Given the description of an element on the screen output the (x, y) to click on. 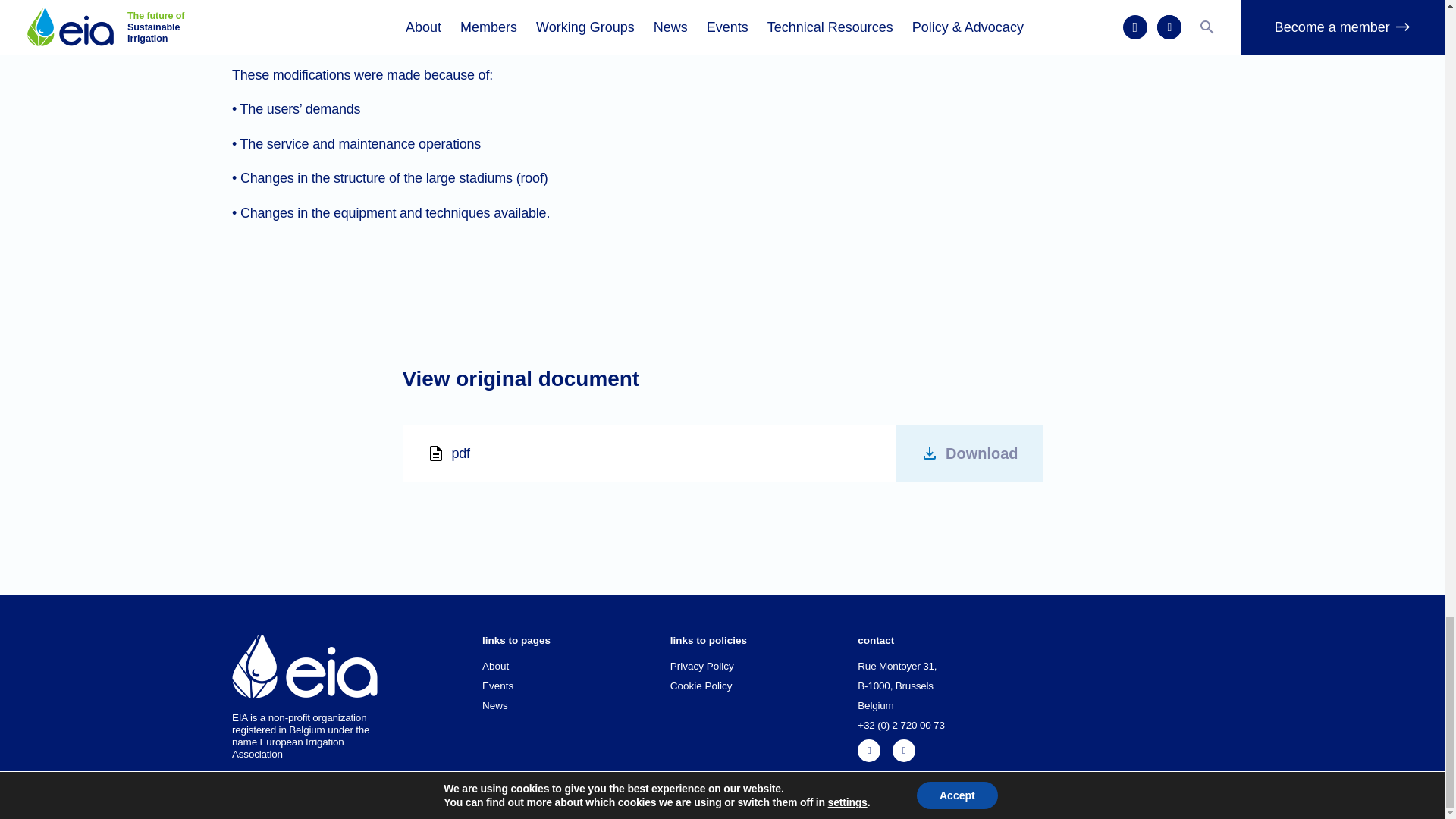
Download (969, 453)
Events (575, 690)
Cookie Policy (764, 690)
About (575, 670)
News (575, 709)
Privacy Policy (764, 670)
